Given the description of an element on the screen output the (x, y) to click on. 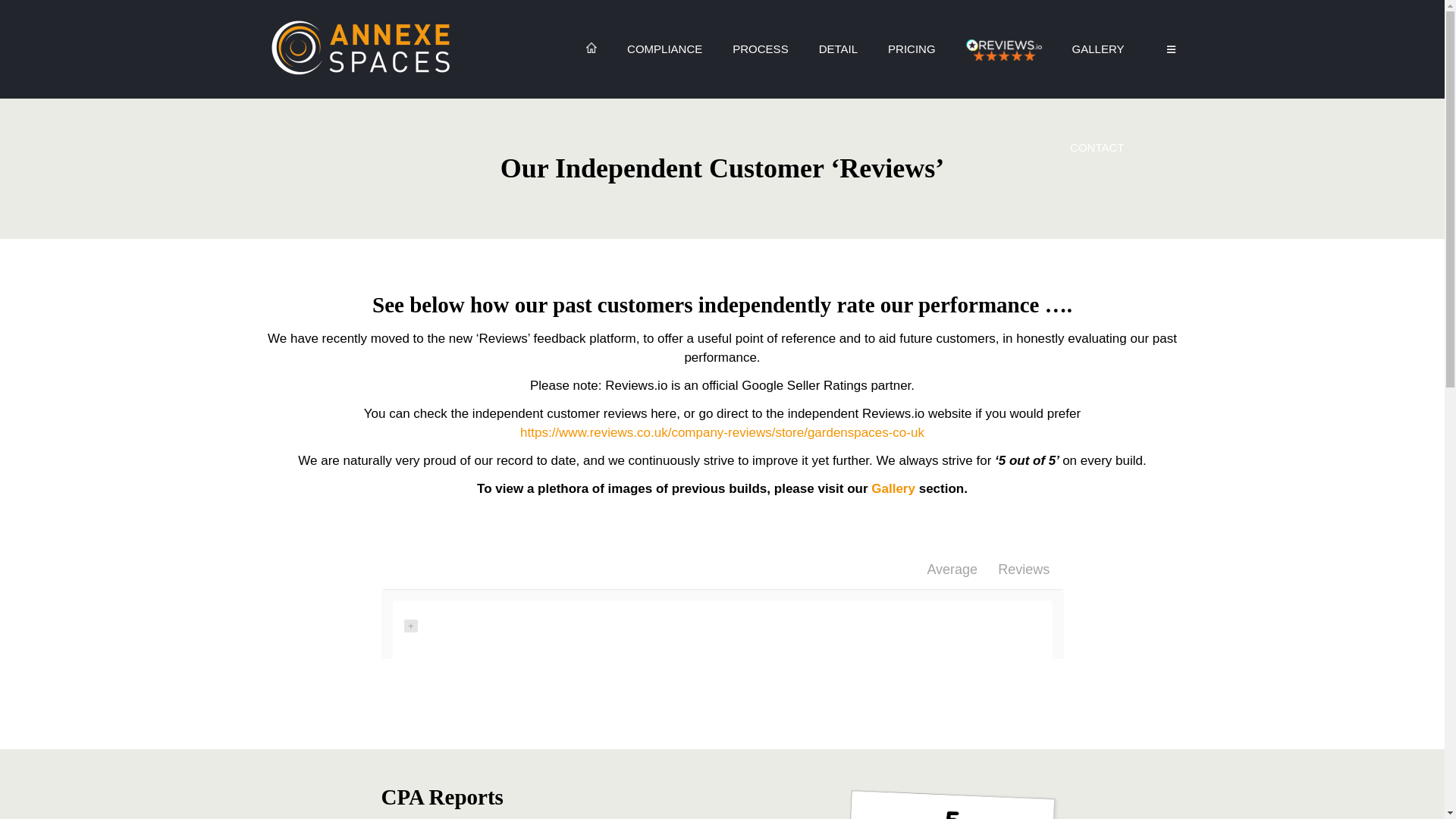
Gallery  (892, 488)
Reviews Widget (721, 620)
COMPLIANCE (664, 49)
